Given the description of an element on the screen output the (x, y) to click on. 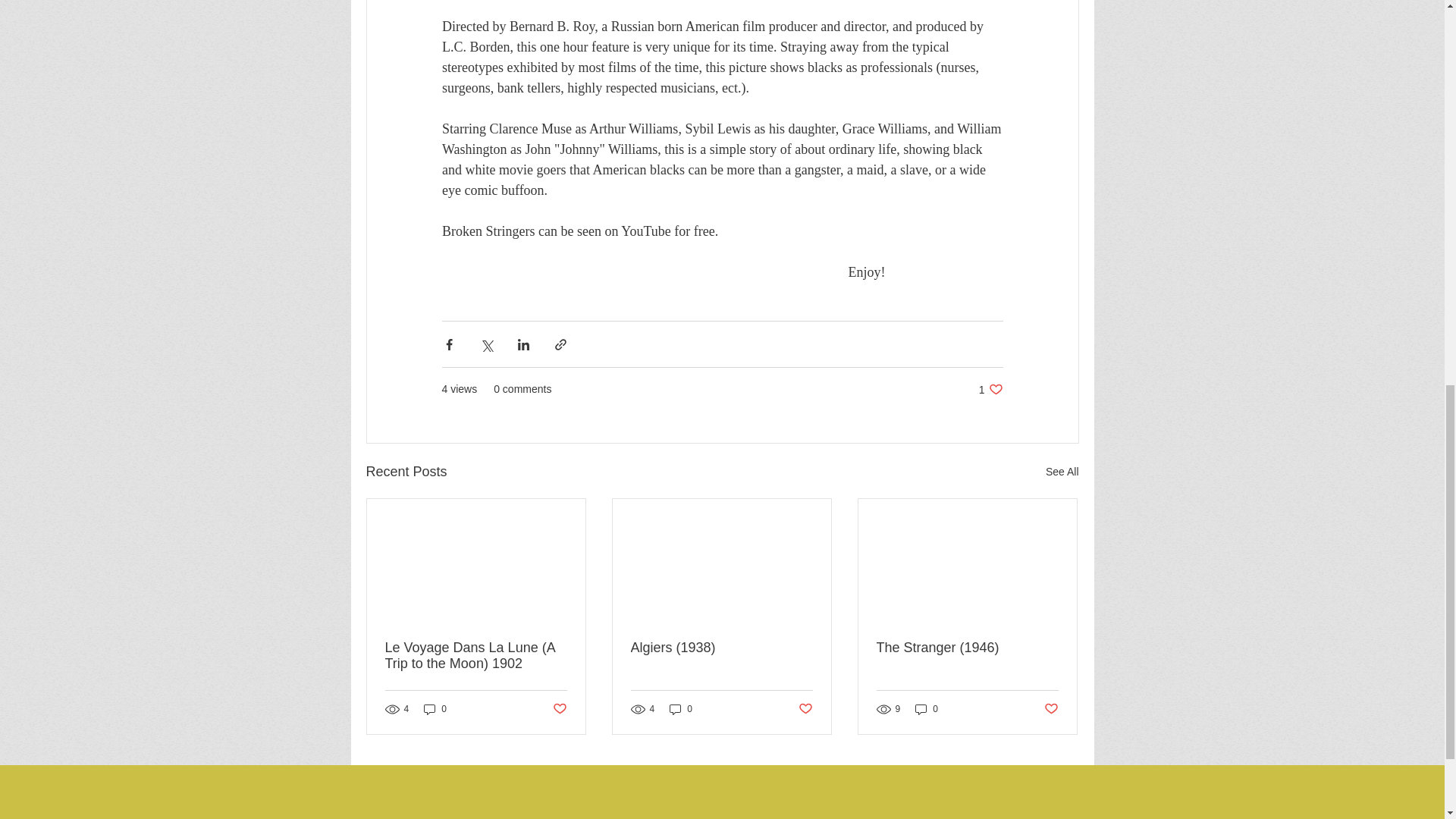
See All (1061, 472)
0 (990, 389)
Post not marked as liked (435, 708)
Post not marked as liked (1050, 709)
0 (558, 709)
0 (681, 708)
Post not marked as liked (926, 708)
